Given the description of an element on the screen output the (x, y) to click on. 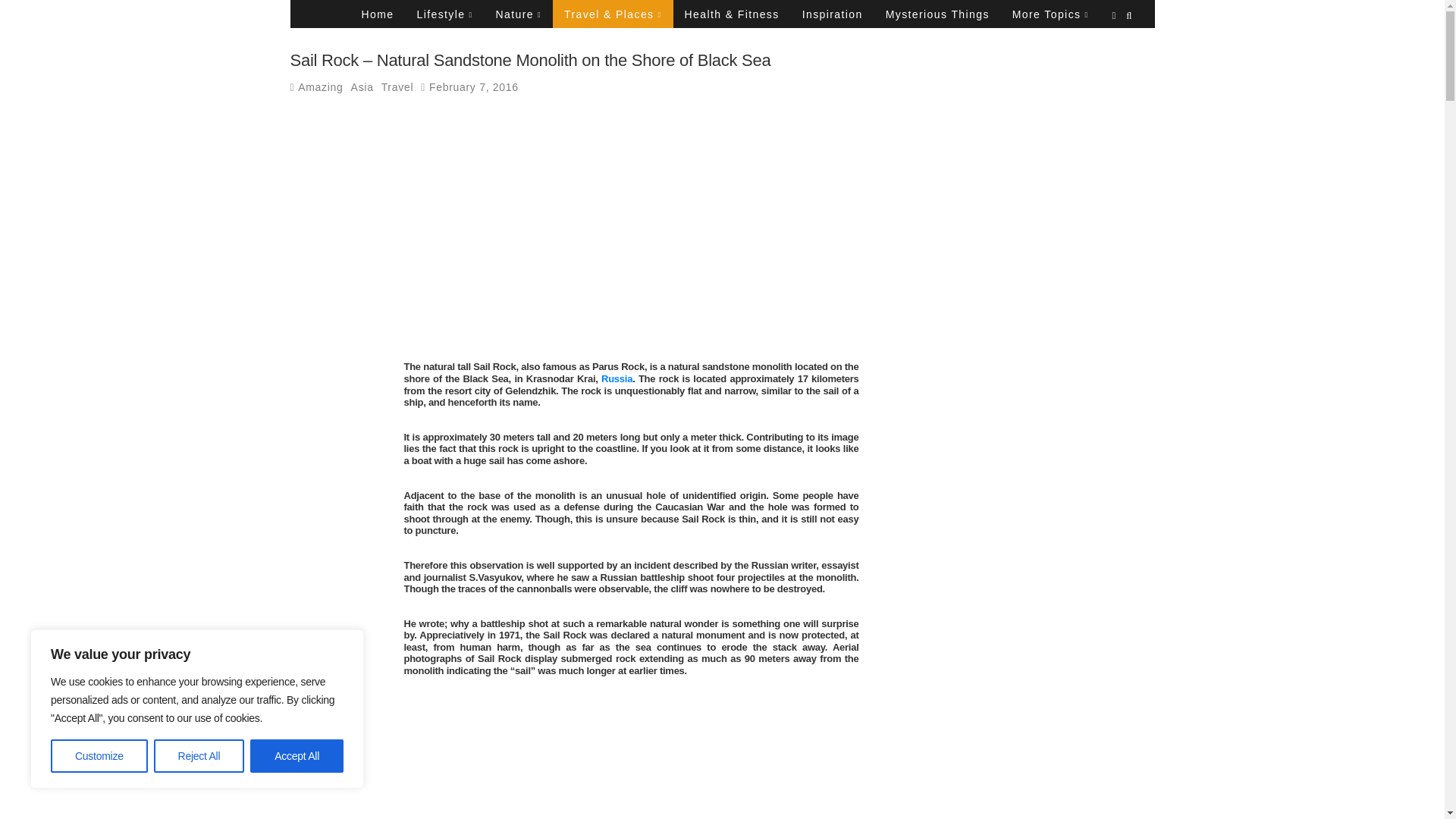
Lifestyle (443, 13)
Advertisement (631, 232)
Customize (99, 756)
Nature (517, 13)
Accept All (296, 756)
Reject All (199, 756)
Home (378, 13)
Advertisement (631, 751)
